Given the description of an element on the screen output the (x, y) to click on. 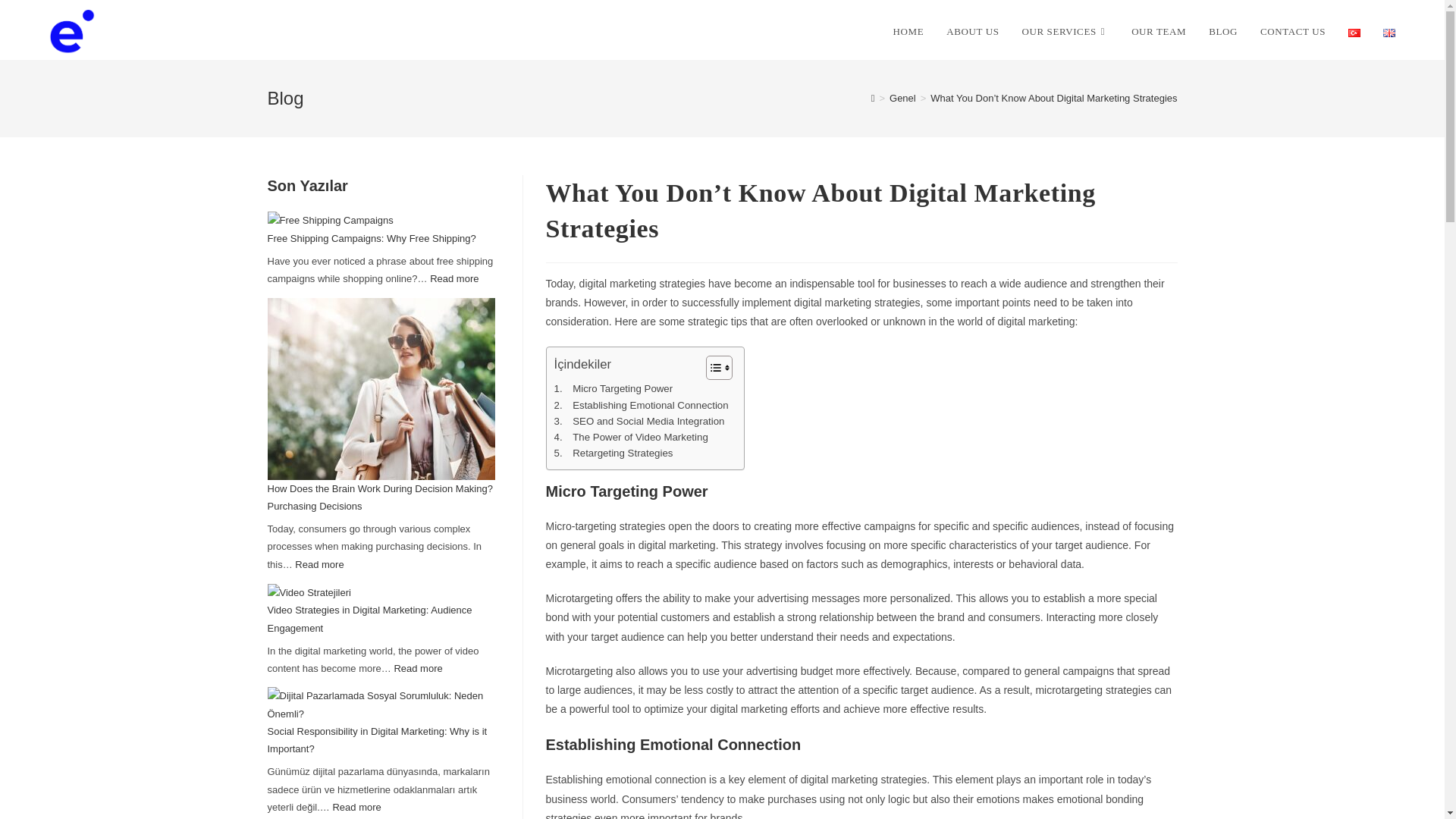
Establishing Emotional Connection (640, 405)
Retargeting Strategies (612, 453)
HOME (909, 31)
Genel (902, 98)
SEO and Social Media Integration (638, 421)
SEO and Social Media Integration (638, 421)
ABOUT US (972, 31)
Micro Targeting Power (612, 388)
Establishing Emotional Connection (640, 405)
The Power of Video Marketing (630, 437)
CONTACT US (1292, 31)
The Power of Video Marketing (630, 437)
OUR TEAM (1157, 31)
Retargeting Strategies (612, 453)
Micro Targeting Power (612, 388)
